Given the description of an element on the screen output the (x, y) to click on. 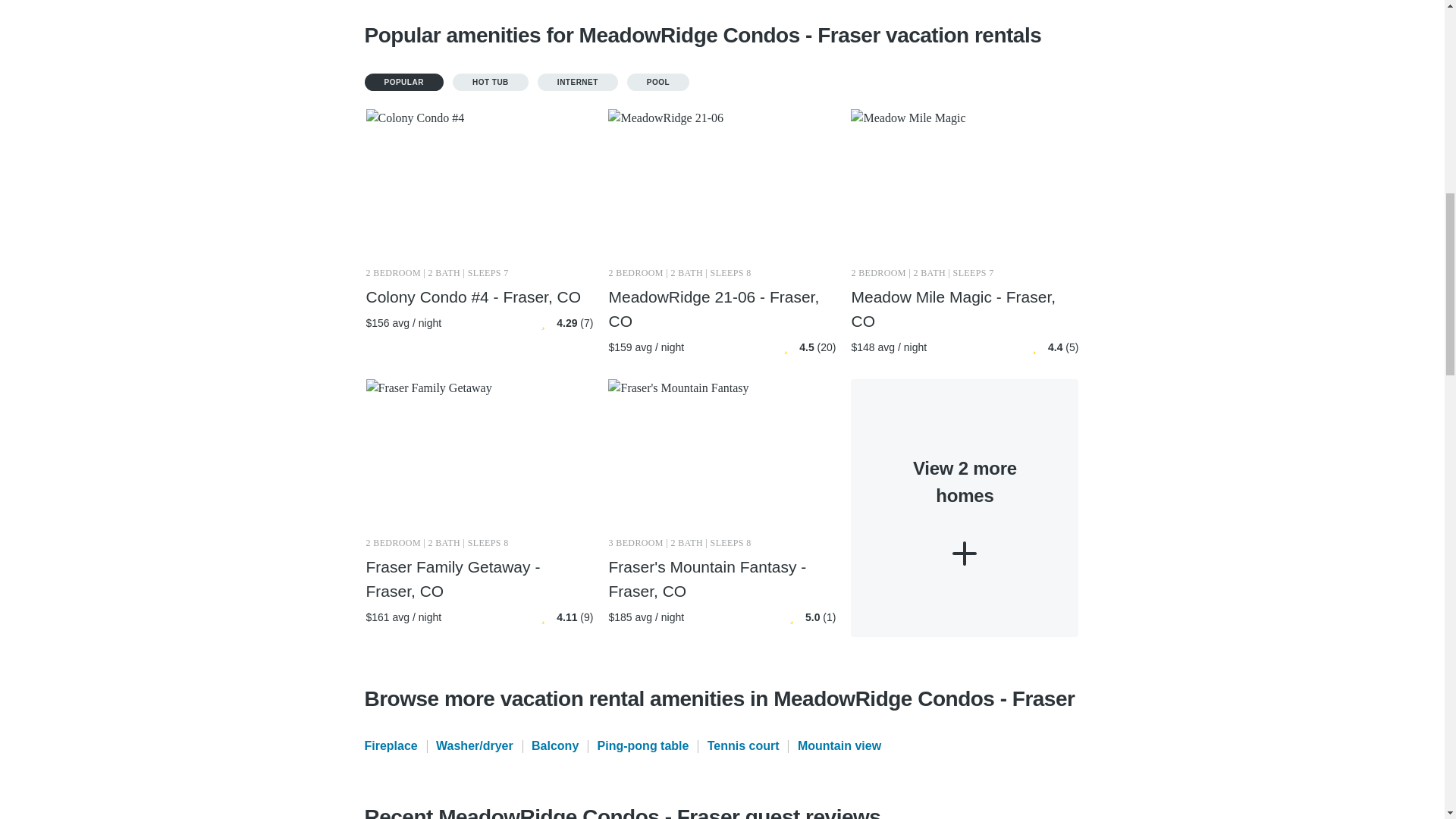
INTERNET (577, 81)
Fireplace (390, 745)
Ping-pong table (642, 745)
Balcony (554, 745)
Tennis court (742, 745)
Mountain view (838, 745)
View 2 more homes (964, 508)
HOT TUB (490, 81)
POOL (657, 81)
